Given the description of an element on the screen output the (x, y) to click on. 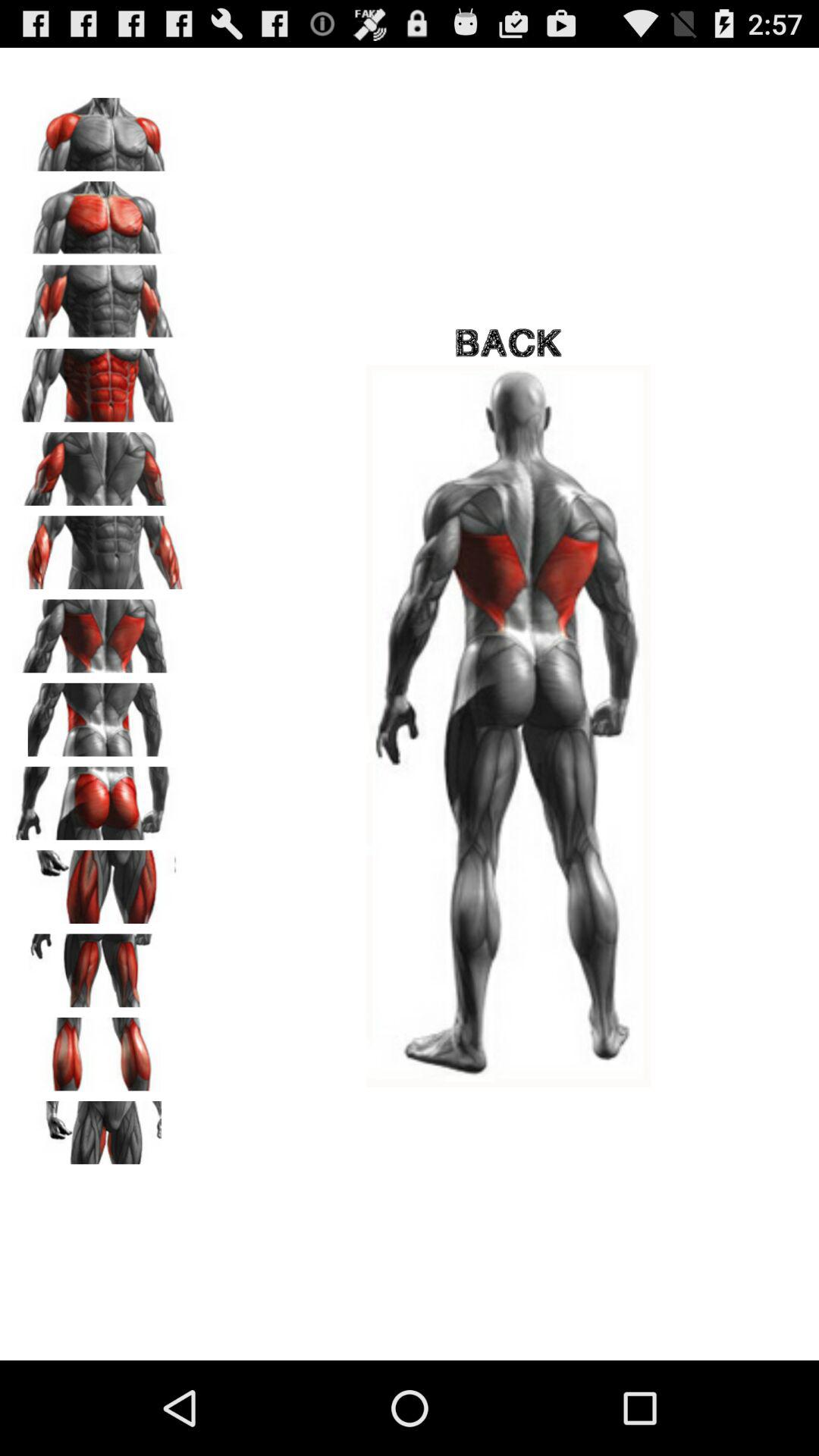
show the selected image in full (99, 547)
